Given the description of an element on the screen output the (x, y) to click on. 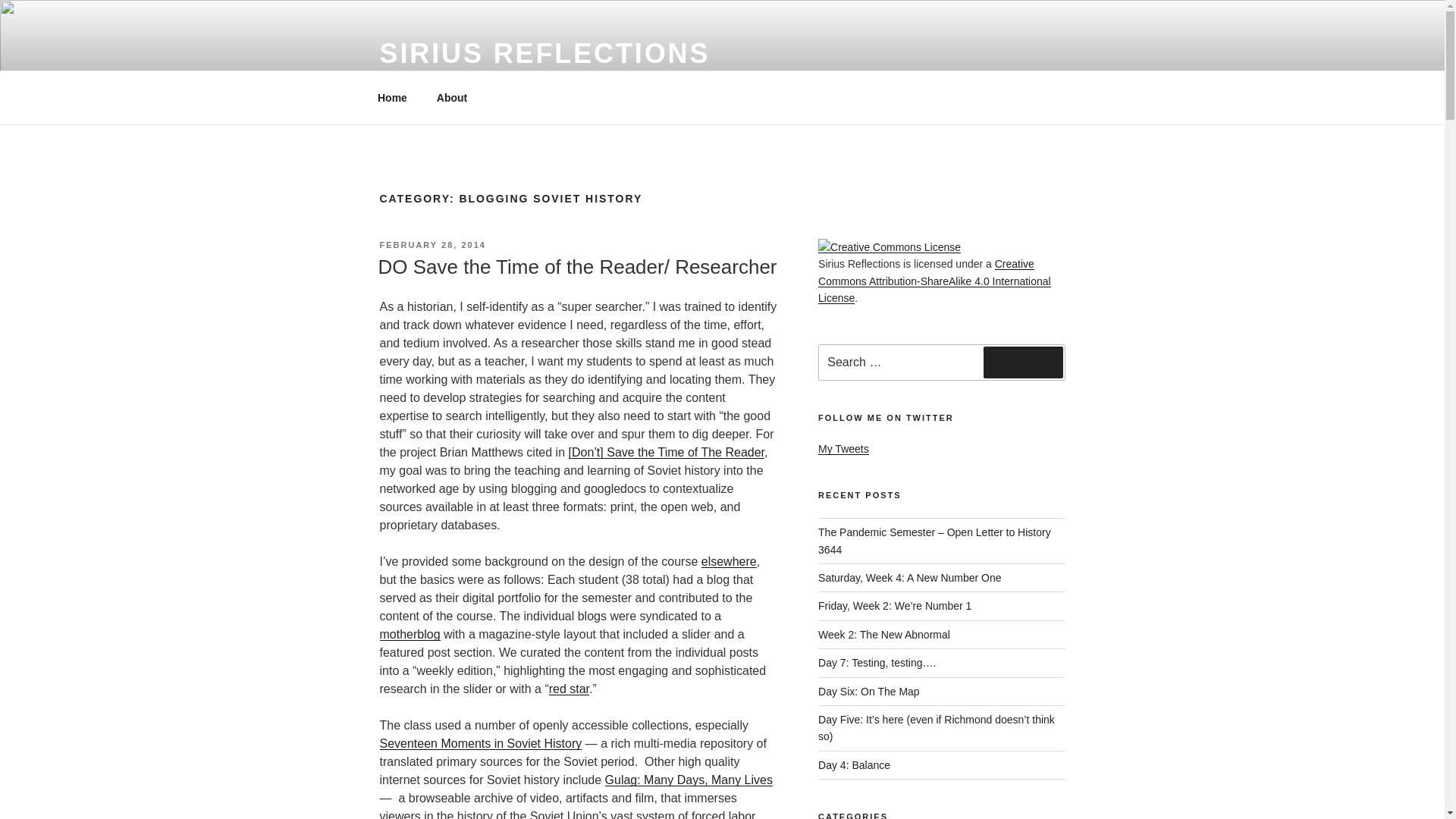
Seventeen Moments in Soviet History (479, 743)
FEBRUARY 28, 2014 (431, 244)
Home (392, 97)
About (451, 97)
elsewhere (729, 561)
SIRIUS REFLECTIONS (544, 52)
motherblog (408, 634)
Gulag: Many Days, Many Lives (689, 779)
red star (568, 688)
siriusreflections - blogging soviet history (729, 561)
